Given the description of an element on the screen output the (x, y) to click on. 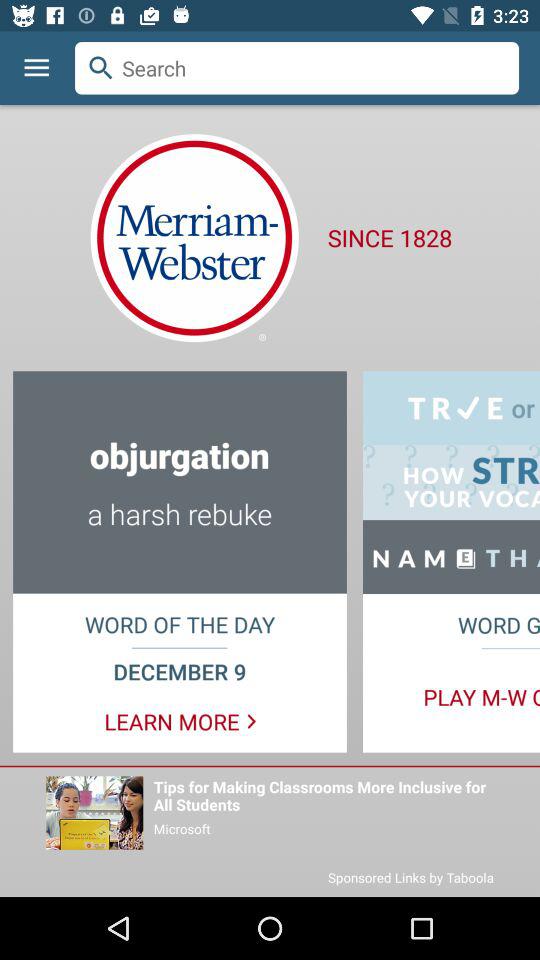
select the logo below the search bar on the web page (194, 238)
